Given the description of an element on the screen output the (x, y) to click on. 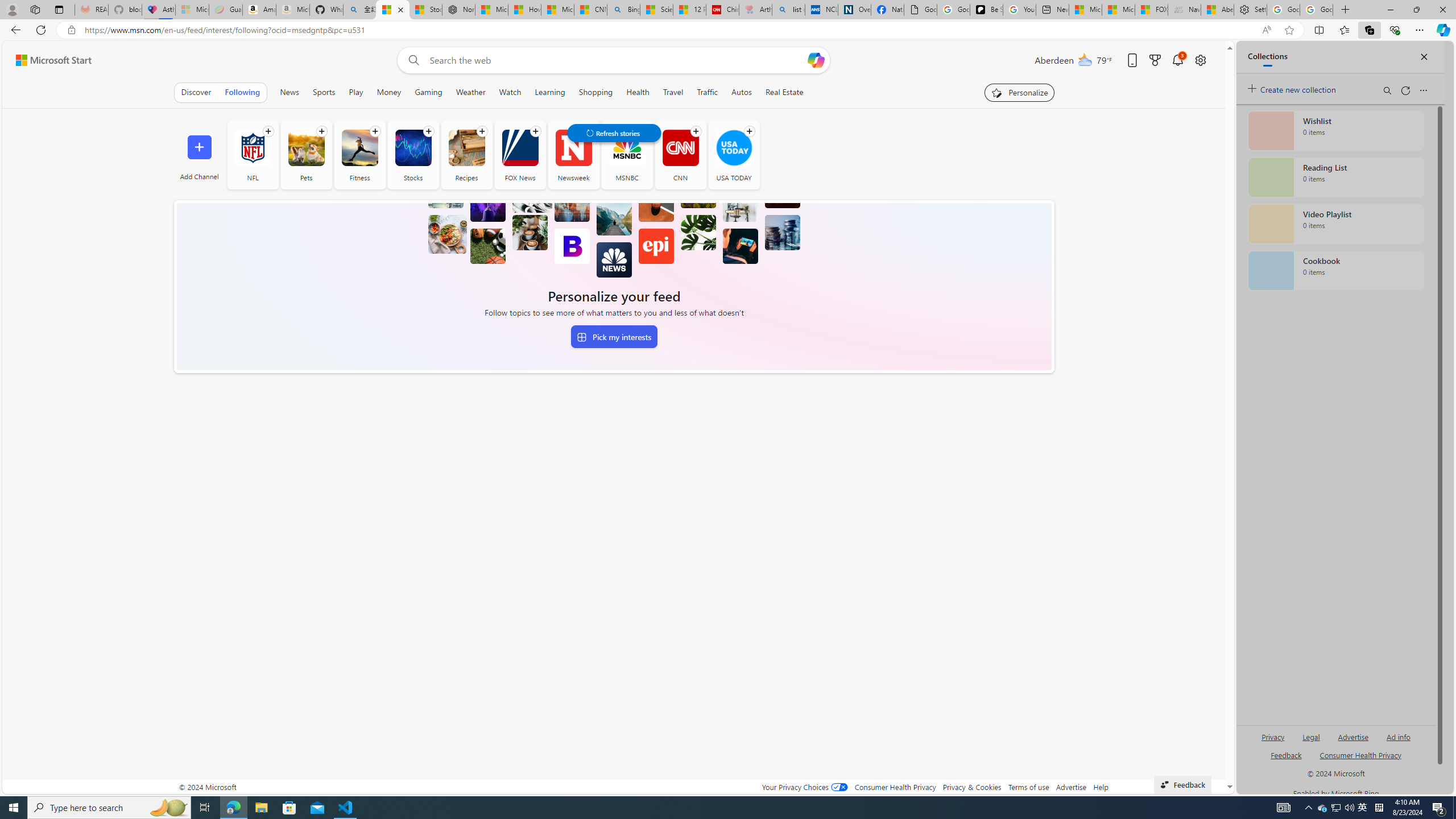
Traffic (707, 92)
Sports (323, 92)
Stocks - MSN (425, 9)
Class: control (613, 132)
Microsoft rewards (1154, 60)
Navy Quest (1184, 9)
Notifications (1177, 60)
Fitness (359, 155)
AutomationID: genId96 (1285, 759)
